Given the description of an element on the screen output the (x, y) to click on. 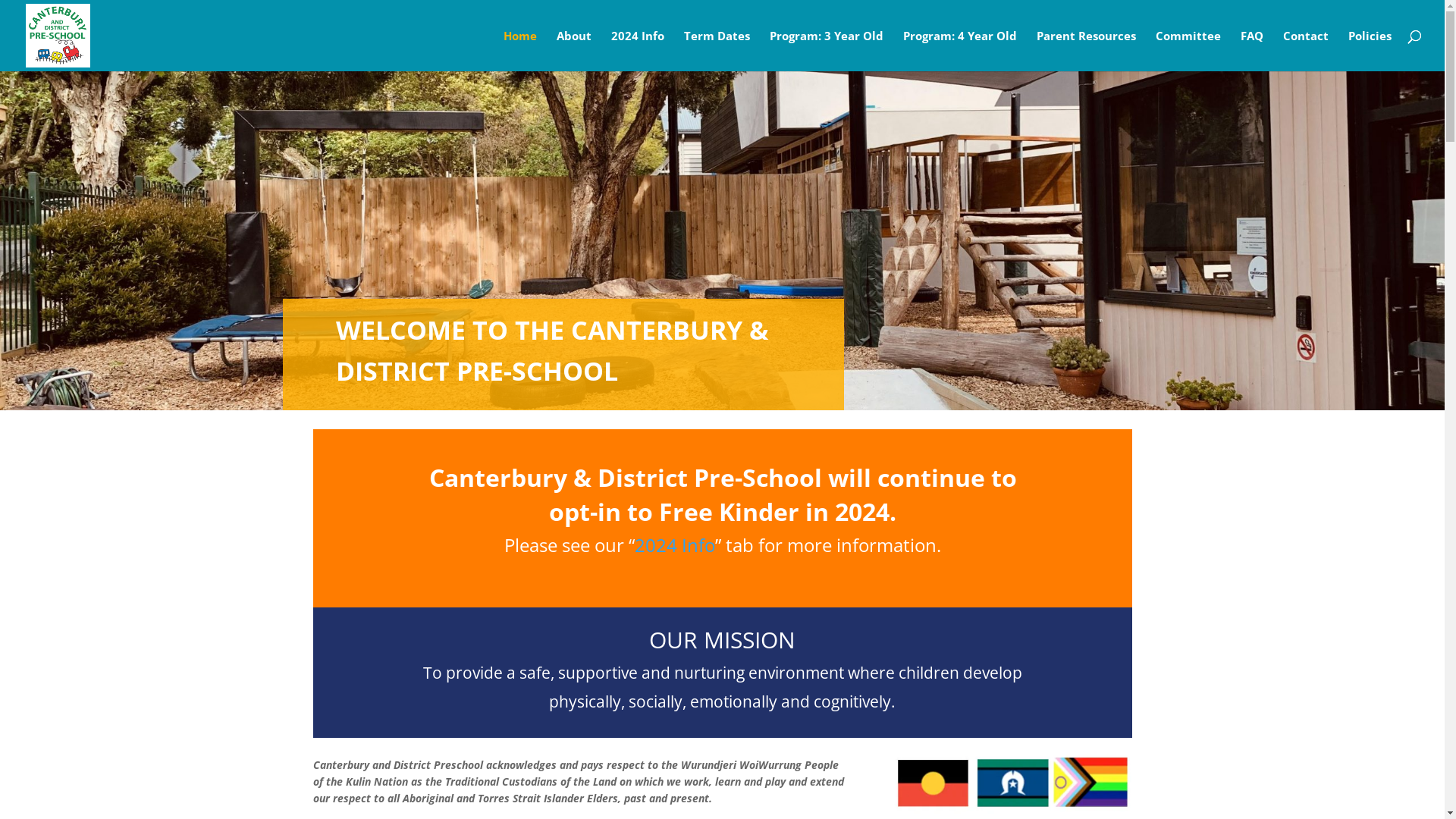
Committee Element type: text (1187, 50)
Parent Resources Element type: text (1085, 50)
FAQ Element type: text (1251, 50)
Contact Element type: text (1305, 50)
Program: 3 Year Old Element type: text (826, 50)
Home Element type: text (519, 50)
2024 Info Element type: text (637, 50)
2024 Info Element type: text (674, 544)
Program: 4 Year Old Element type: text (959, 50)
About Element type: text (573, 50)
Policies Element type: text (1369, 50)
Term Dates Element type: text (716, 50)
